Given the description of an element on the screen output the (x, y) to click on. 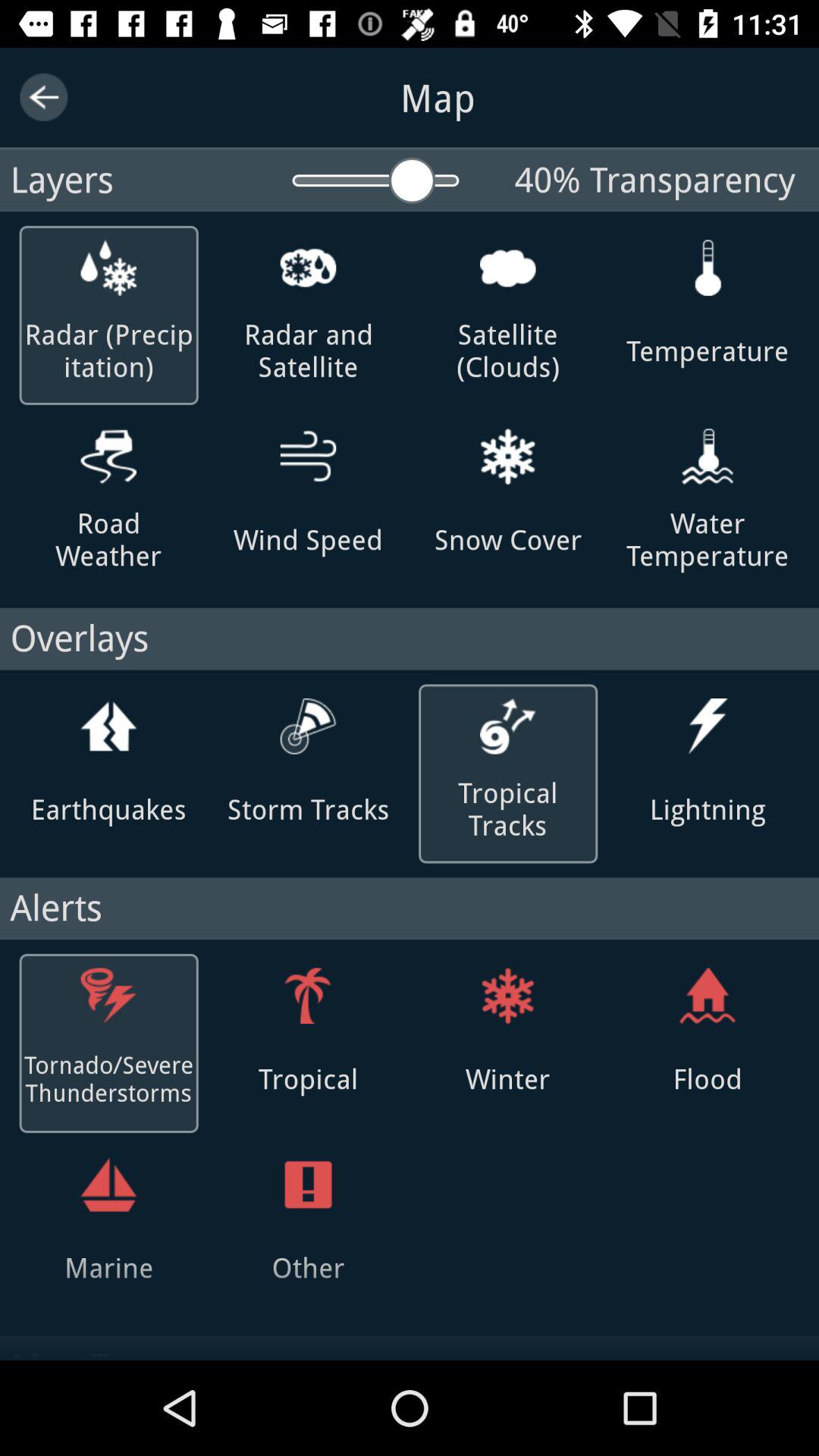
click on the icon above the text storm tracks (307, 726)
